Given the description of an element on the screen output the (x, y) to click on. 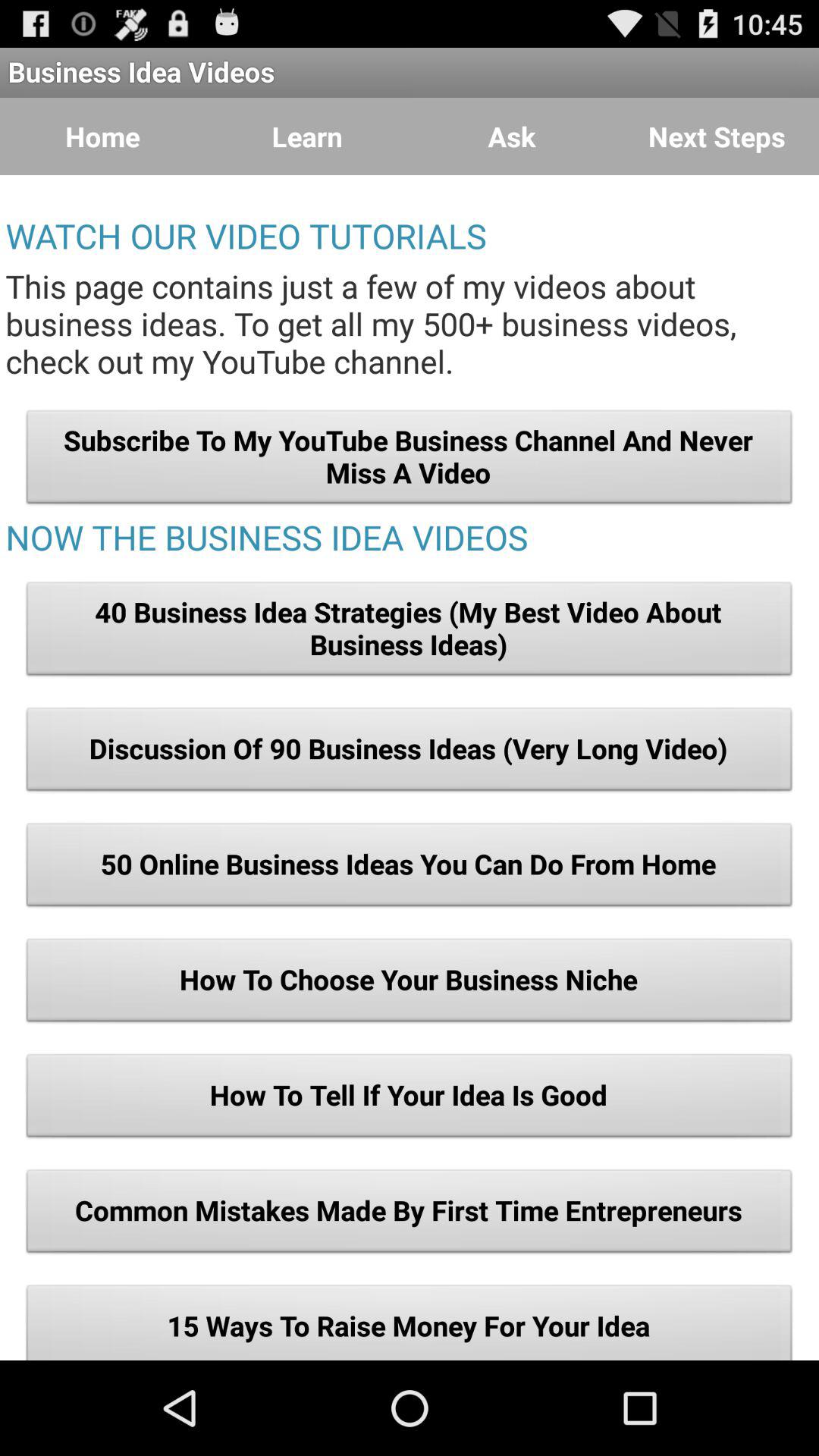
swipe until ask (511, 136)
